Given the description of an element on the screen output the (x, y) to click on. 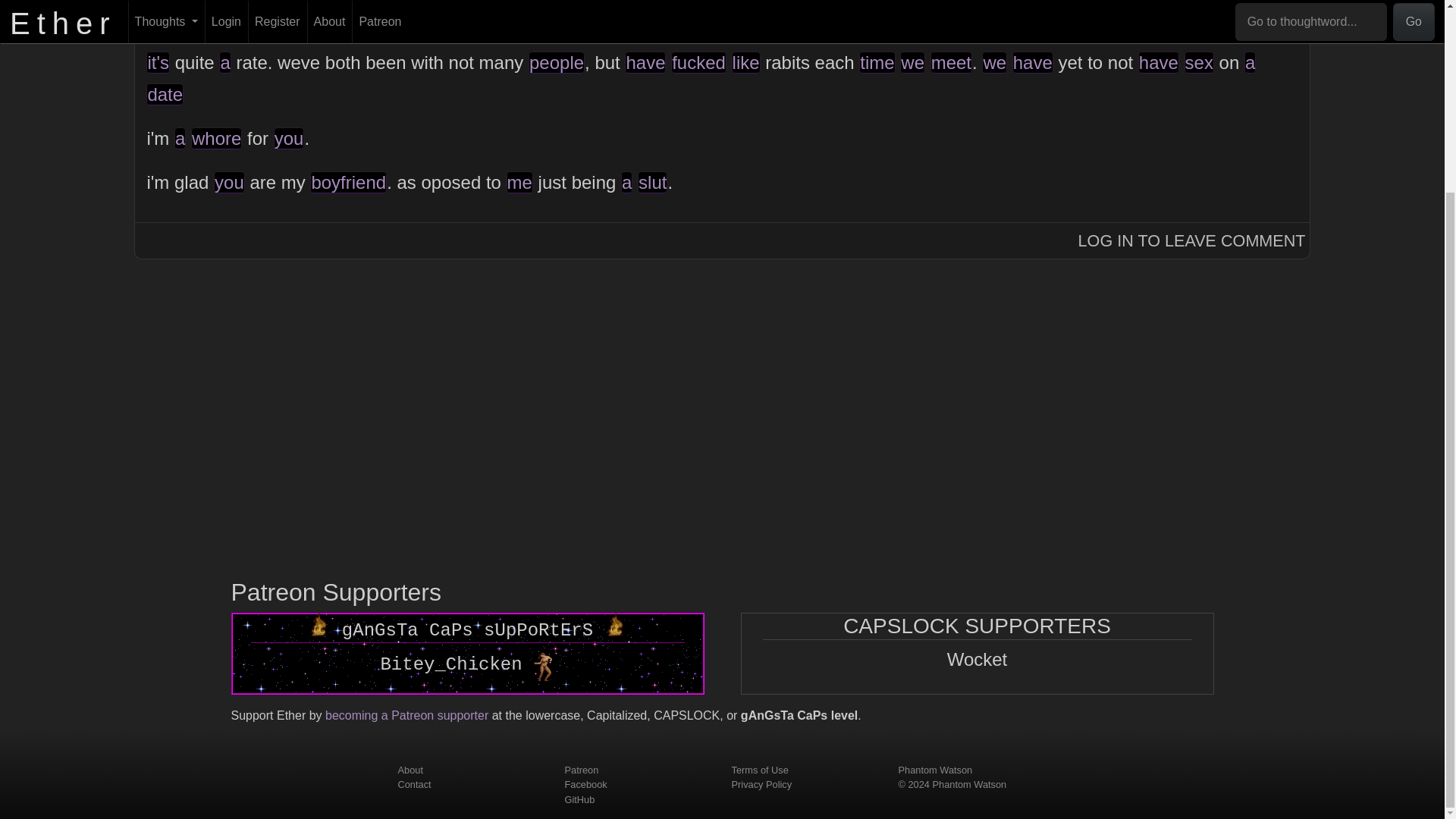
time (877, 62)
whore (215, 138)
you (288, 138)
sex (561, 18)
people (556, 62)
meet (951, 62)
sex (1199, 62)
60 (219, 18)
it's (158, 62)
like (746, 62)
